Given the description of an element on the screen output the (x, y) to click on. 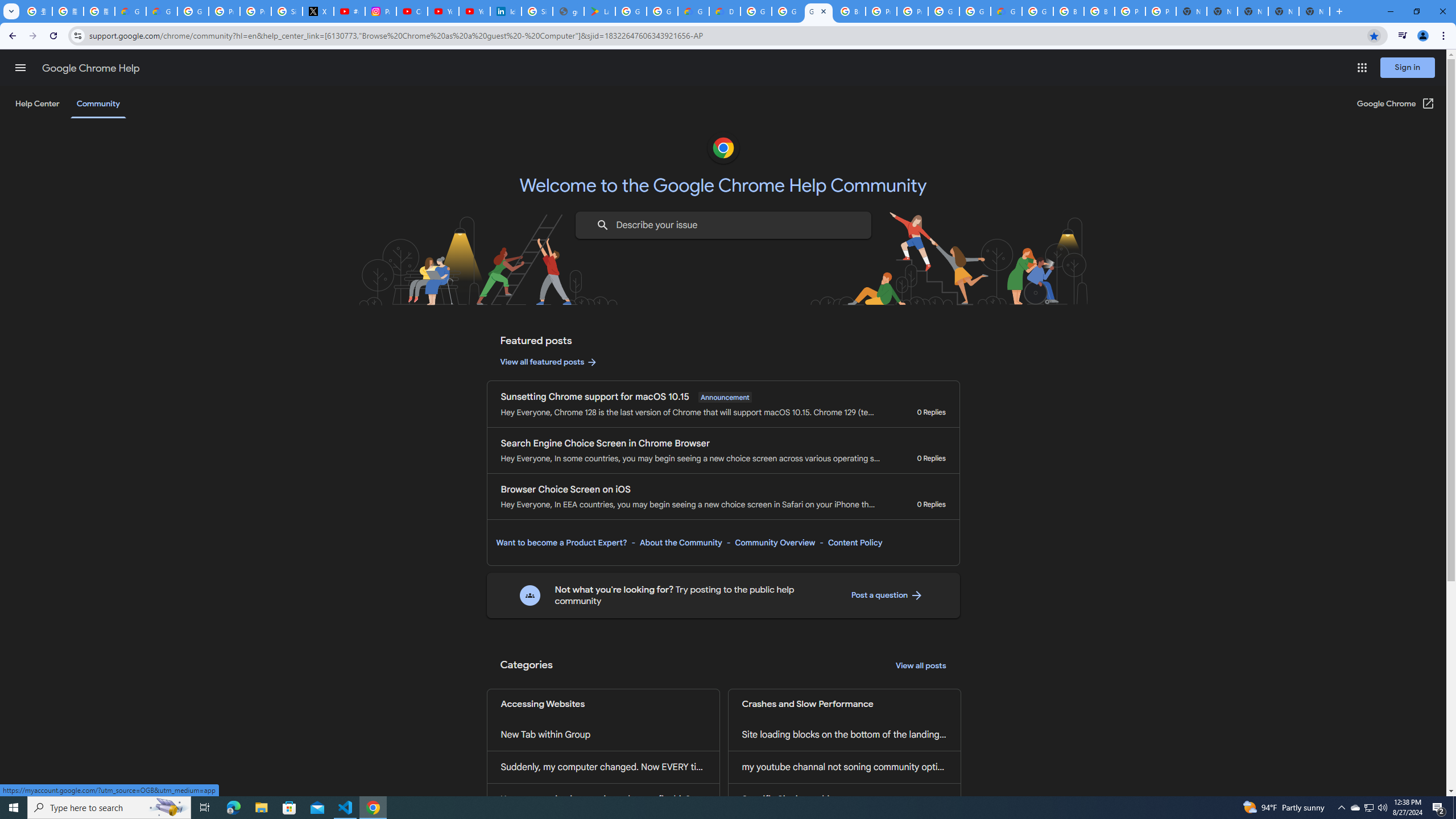
Last Shelter: Survival - Apps on Google Play (599, 11)
Browse Chrome as a guest - Computer - Google Chrome Help (1098, 11)
View all featured posts (548, 361)
Describe your issue to find information that might help you. (722, 225)
#nbabasketballhighlights - YouTube (349, 11)
YouTube Culture & Trends - YouTube Top 10, 2021 (474, 11)
Sign in - Google Accounts (286, 11)
Community Overview (775, 542)
